Given the description of an element on the screen output the (x, y) to click on. 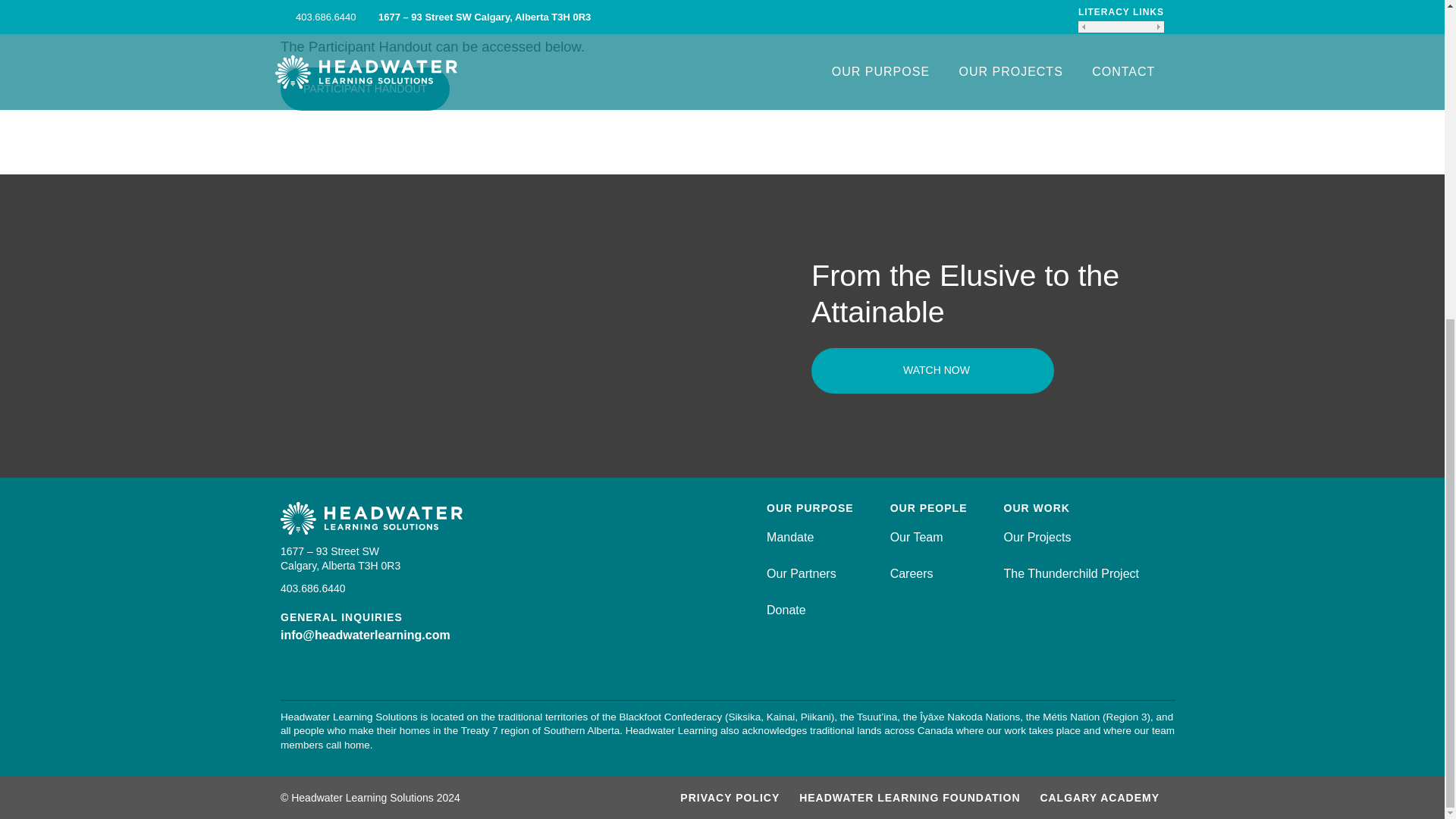
CALGARY ACADEMY (1098, 797)
WATCH NOW (932, 370)
Donate (786, 609)
The Thunderchild Project (1071, 573)
PARTICIPANT HANDOUT (365, 87)
Mandate (790, 536)
PRIVACY POLICY (728, 797)
Our Projects (1037, 536)
Our Team (916, 536)
Our Partners (801, 573)
